Given the description of an element on the screen output the (x, y) to click on. 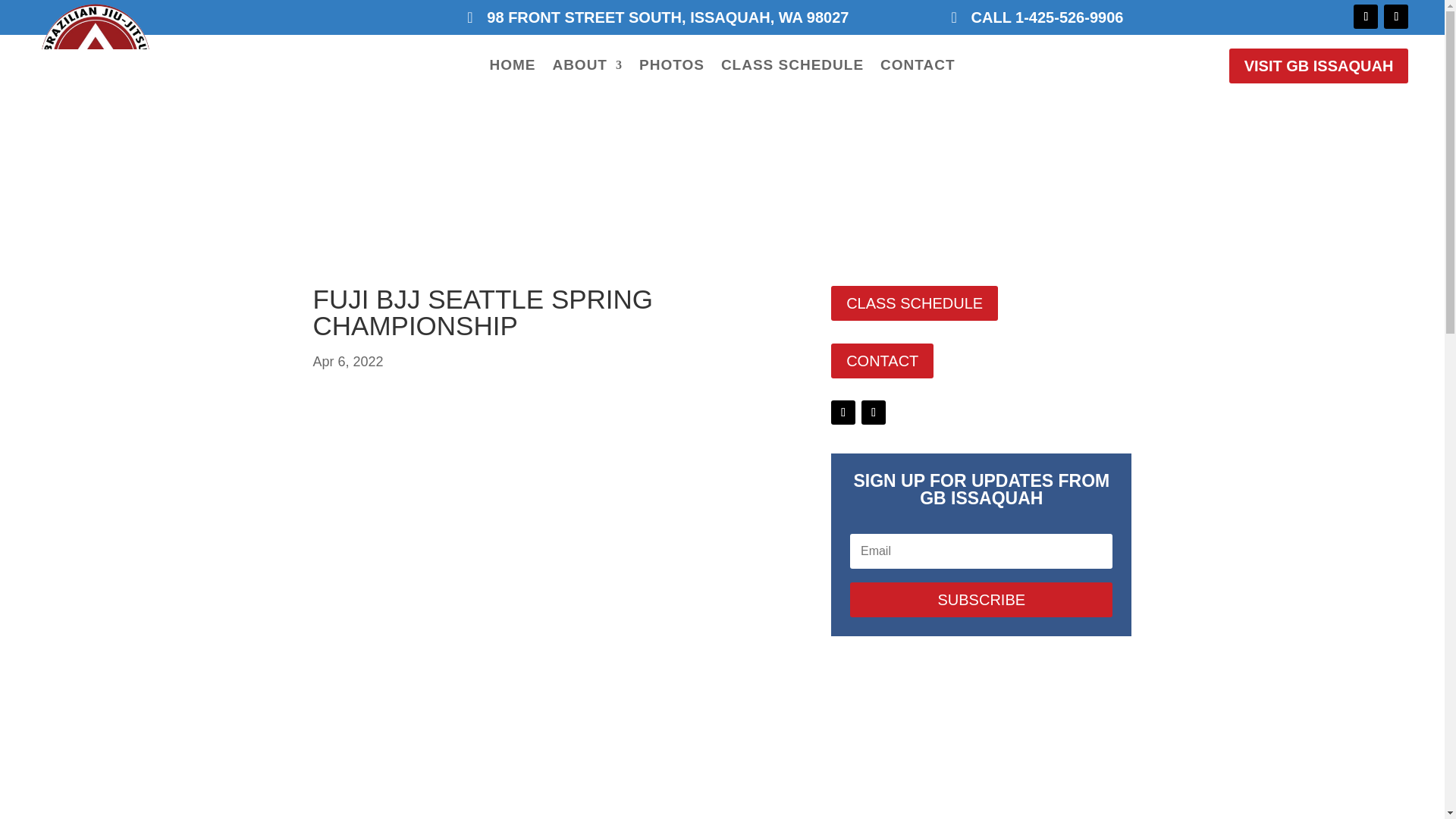
CLASS SCHEDULE (914, 303)
PHOTOS (671, 67)
CONTACT (882, 360)
Follow on Instagram (1395, 16)
martial arts in Issaquah (917, 67)
CONTACT (917, 67)
Jiu Jitsu Issaquah (512, 67)
ABOUT (587, 67)
Martial Arts Issaquah (587, 67)
SUBSCRIBE (981, 599)
